Given the description of an element on the screen output the (x, y) to click on. 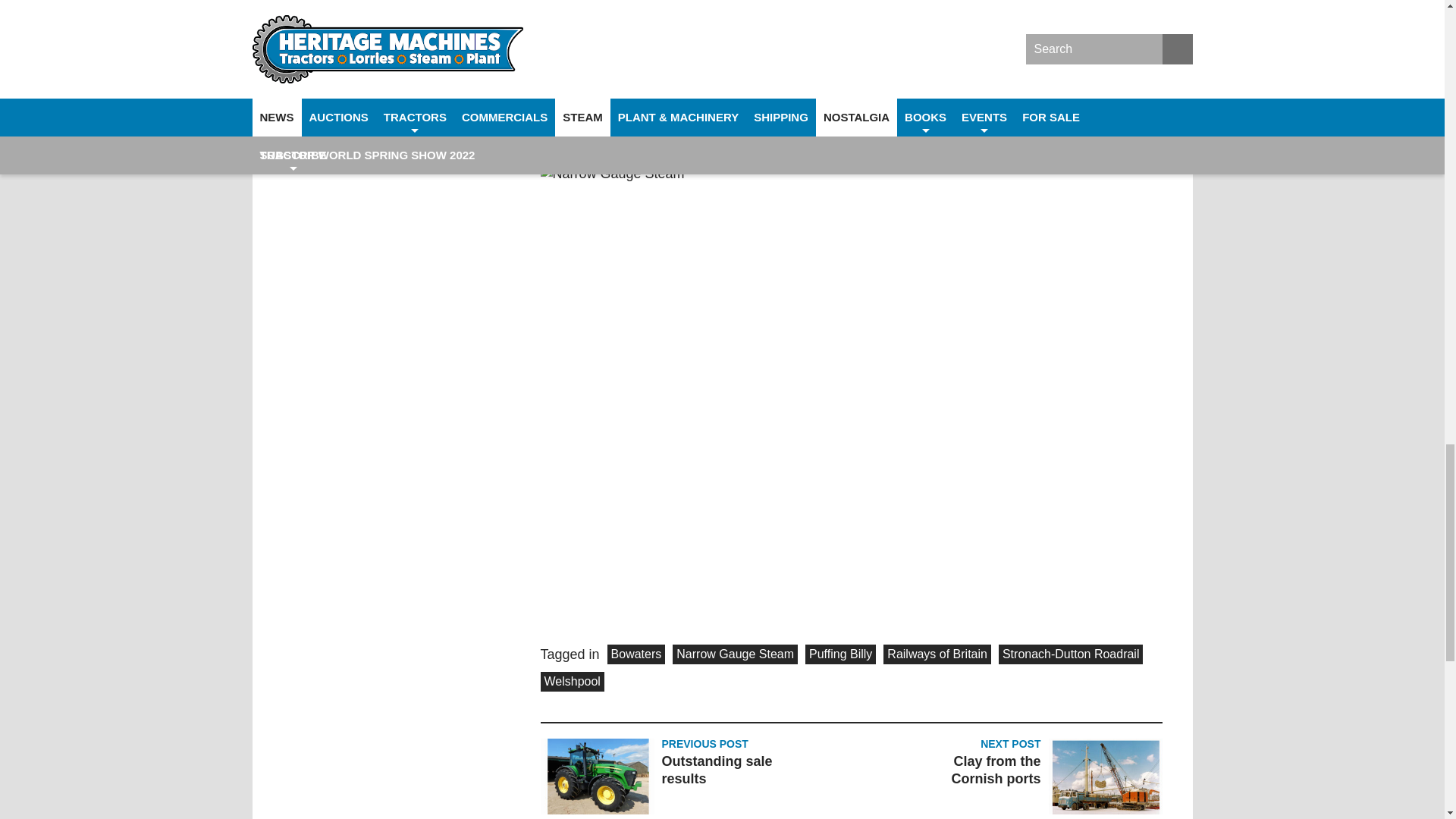
Puffing Billy (840, 654)
here (775, 138)
Railways of Britain (937, 654)
Bowaters (636, 654)
Narrow Gauge Steam (734, 654)
